Given the description of an element on the screen output the (x, y) to click on. 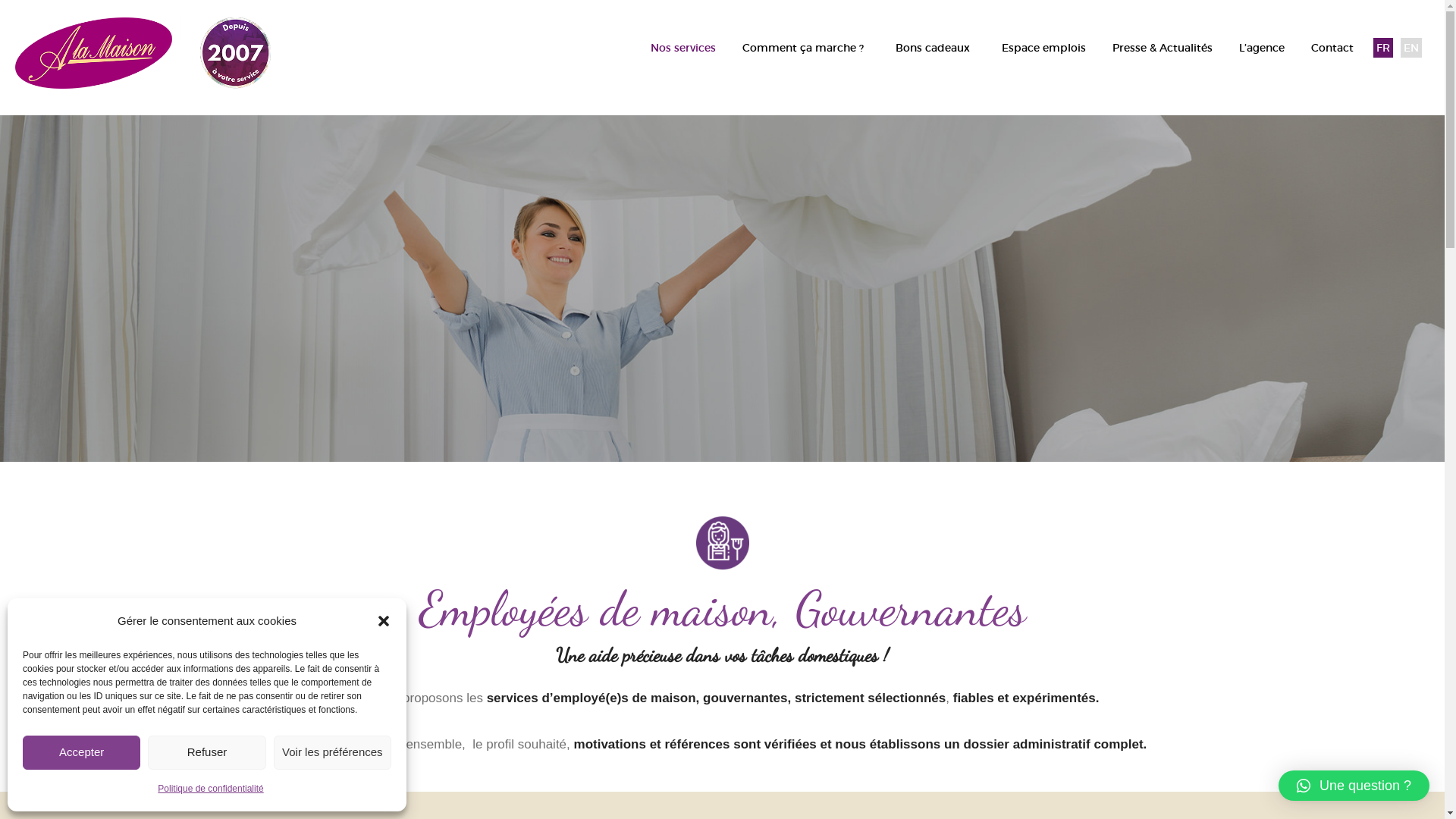
Espace emplois Element type: text (1040, 47)
FR Element type: text (1382, 47)
EN Element type: text (1410, 47)
Bons cadeaux Element type: text (932, 47)
Contact Element type: text (1332, 47)
Une question ? Element type: text (1353, 785)
Nos services Element type: text (680, 47)
Accepter Element type: text (81, 752)
Refuser Element type: text (206, 752)
